Given the description of an element on the screen output the (x, y) to click on. 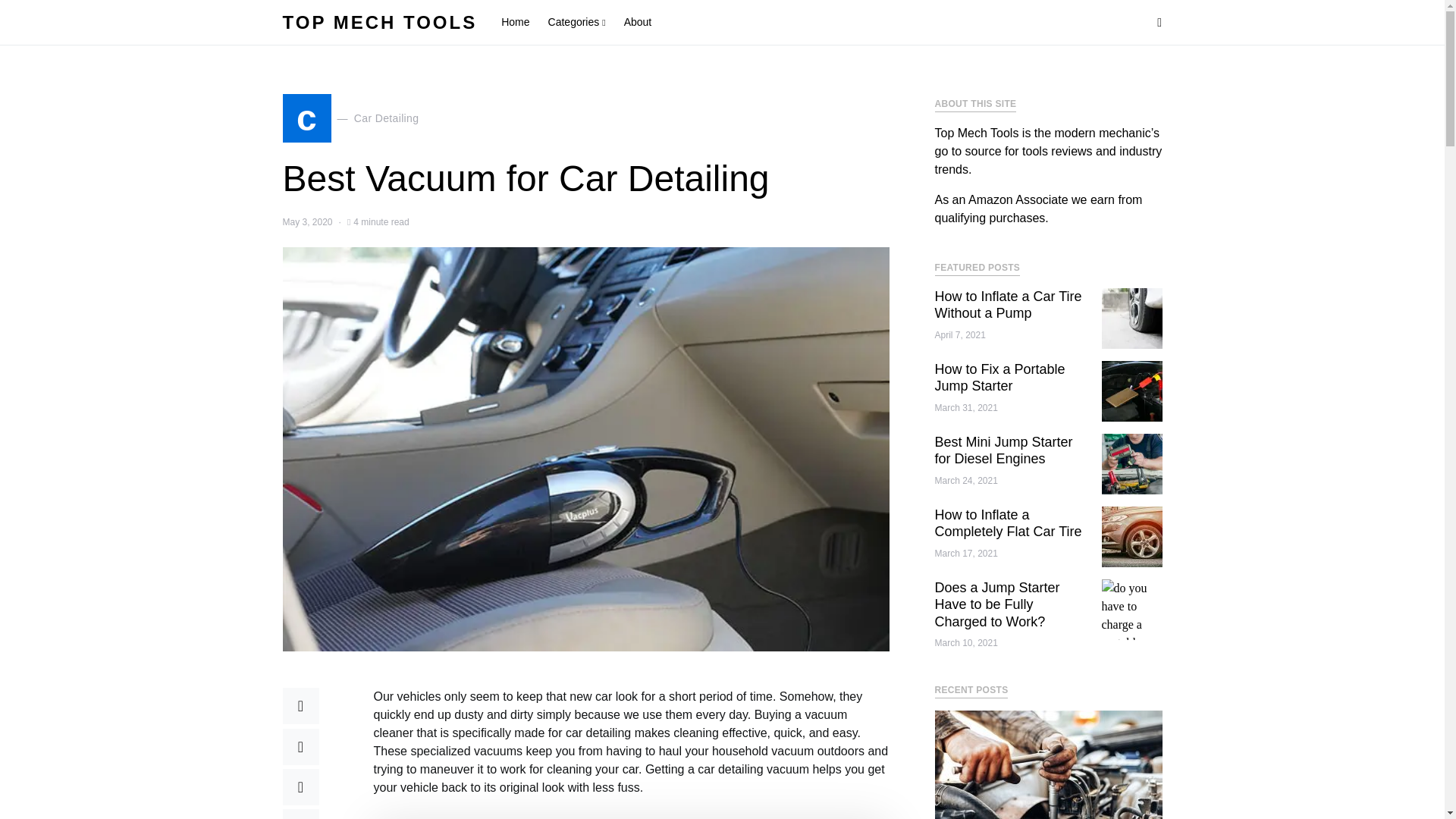
Categories (350, 118)
TOP MECH TOOLS (576, 22)
